Given the description of an element on the screen output the (x, y) to click on. 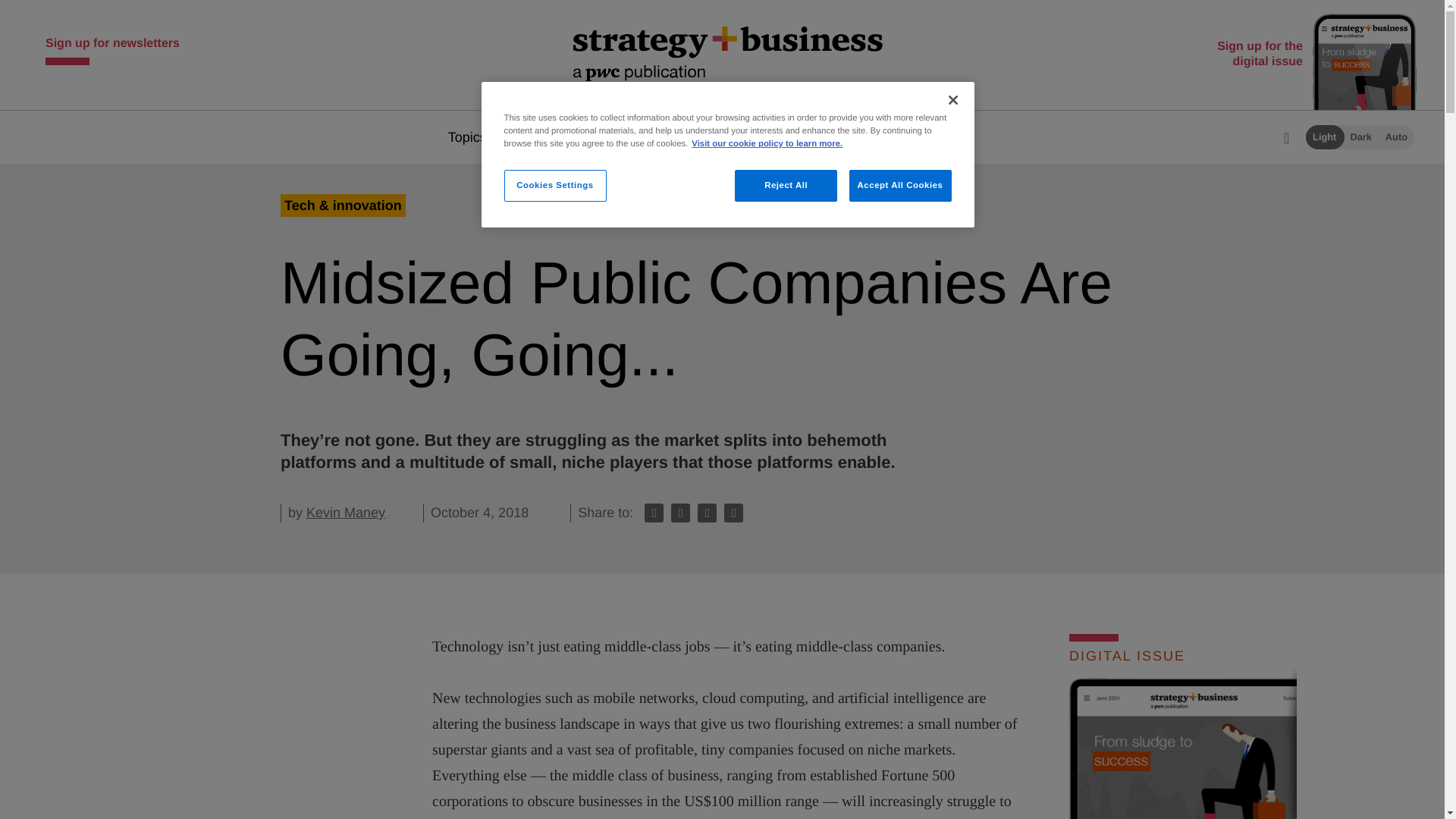
The podcast (860, 136)
The issue (735, 136)
Topics (475, 136)
Sign up for newsletters (112, 47)
Illustration of flying birds delivering information (1067, 816)
A collection of topics for thought leaders (600, 136)
Sign up for the digital issue (1313, 54)
Thought leaders (600, 136)
